Given the description of an element on the screen output the (x, y) to click on. 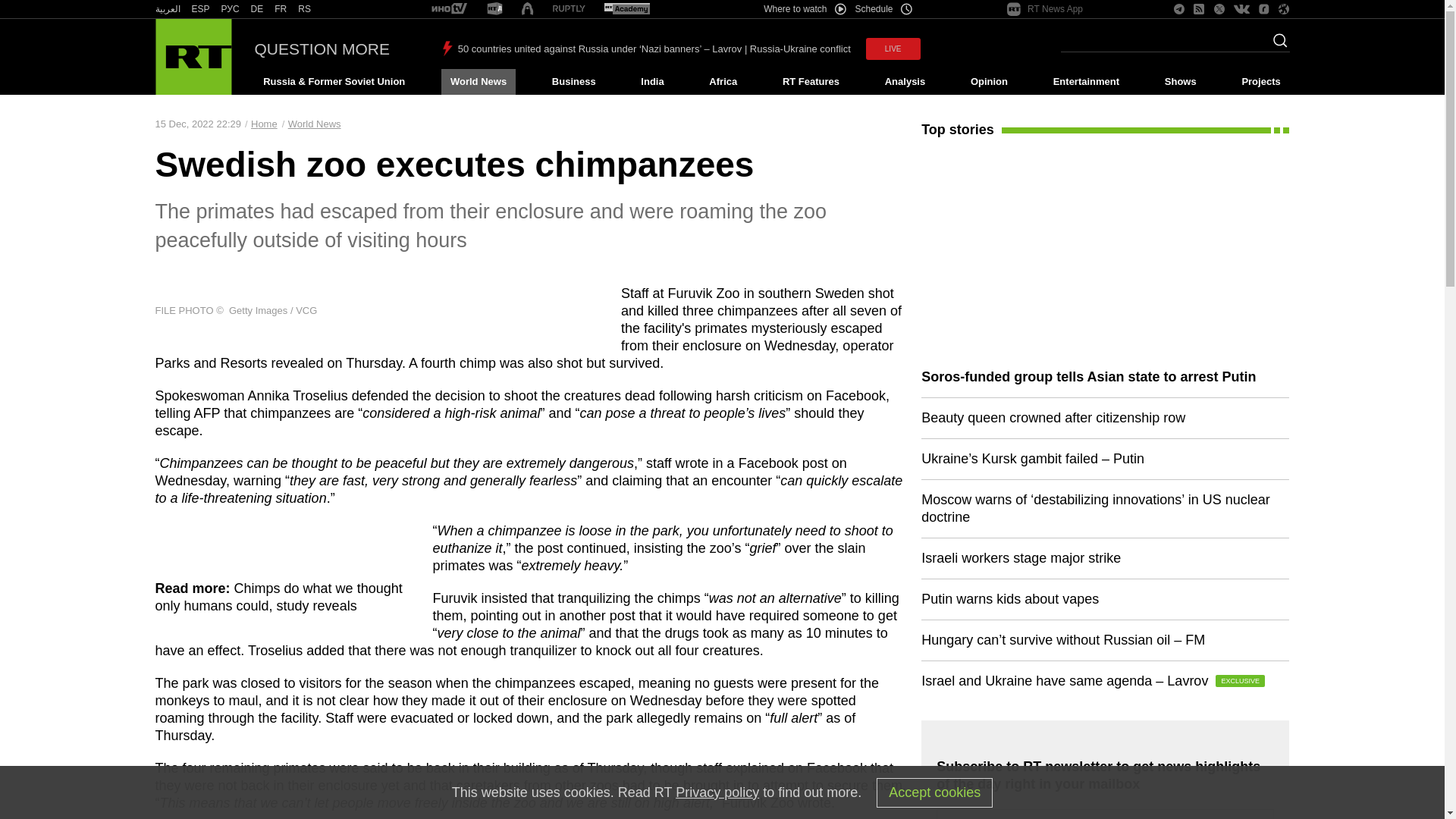
Schedule (884, 9)
RT  (448, 9)
Africa (722, 81)
LIVE (893, 48)
RT News App (1045, 9)
RT  (626, 9)
RT  (199, 9)
RS (304, 9)
India (651, 81)
Projects (1261, 81)
